Given the description of an element on the screen output the (x, y) to click on. 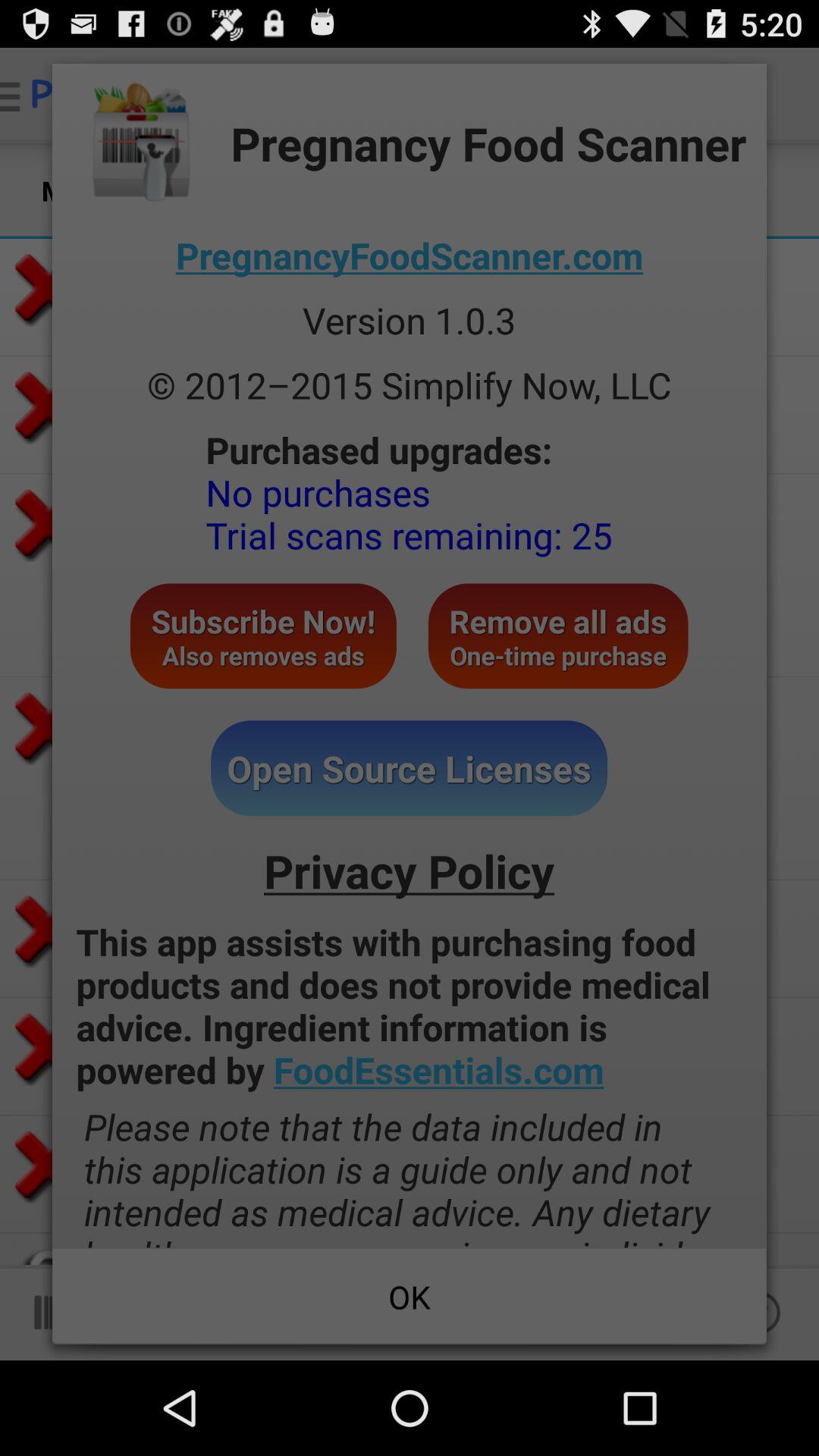
click the this app assists app (409, 1005)
